Given the description of an element on the screen output the (x, y) to click on. 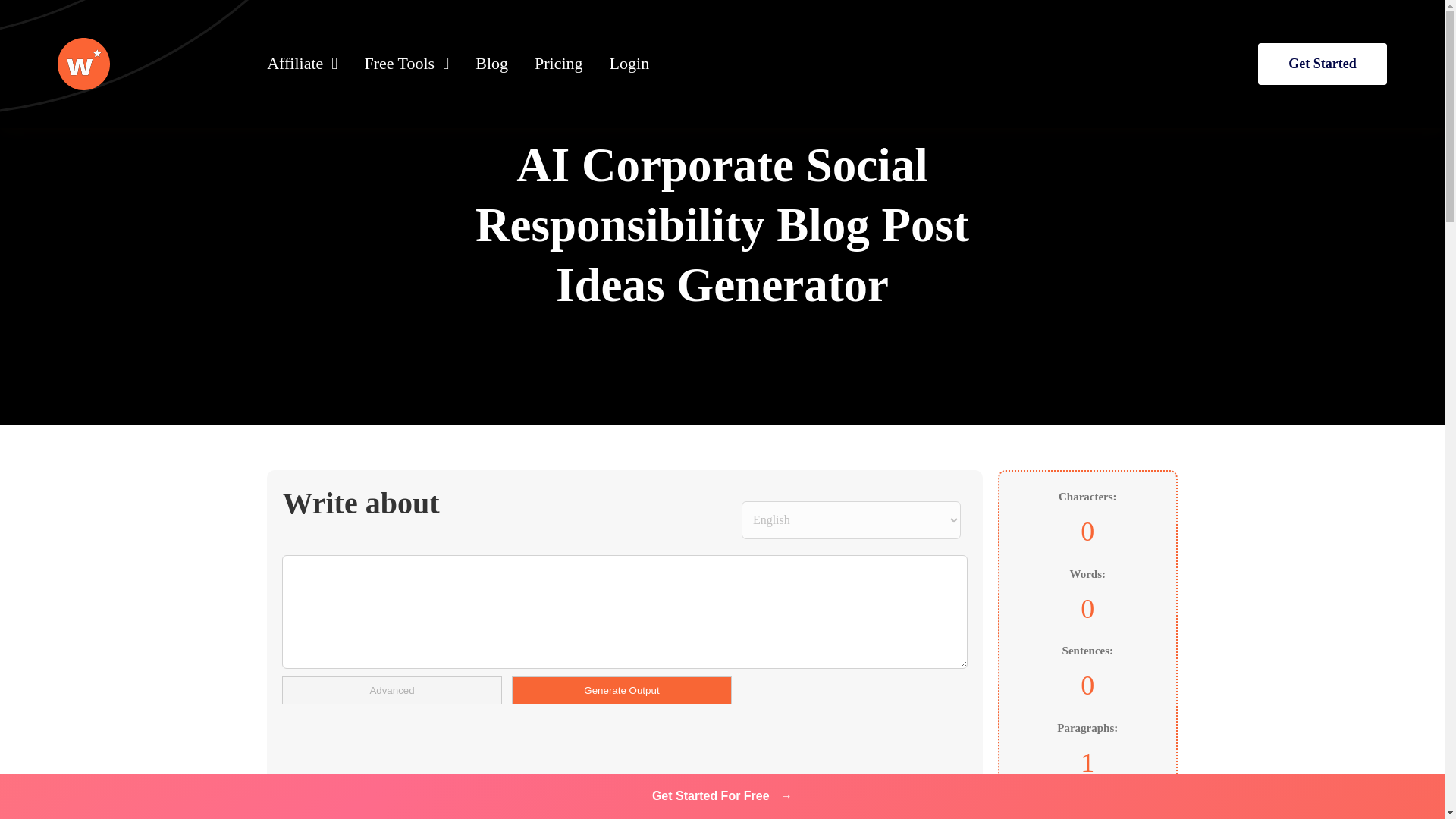
Free Tools (406, 64)
Affiliate (301, 64)
